Given the description of an element on the screen output the (x, y) to click on. 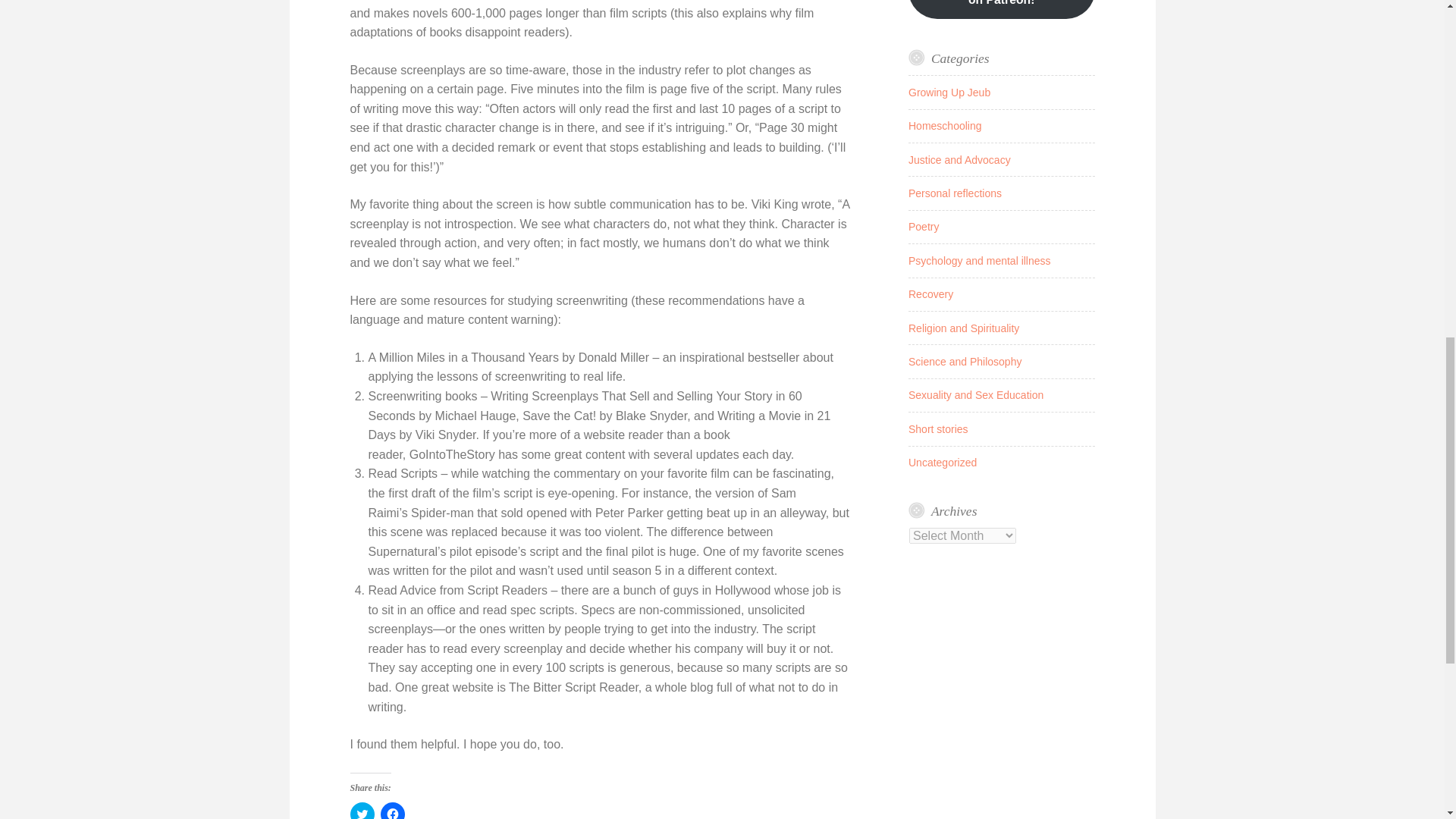
Psychology and mental illness (979, 260)
Sexuality and Sex Education (975, 395)
Recovery (930, 294)
Science and Philosophy (965, 361)
Uncategorized (942, 462)
Click to share on Twitter (362, 810)
Click to share on Facebook (392, 810)
Personal reflections (954, 193)
Growing Up Jeub (949, 92)
Religion and Spirituality (963, 328)
Click here to support me on Patreon! (1001, 9)
Justice and Advocacy (959, 159)
Short stories (938, 428)
Poetry (923, 226)
Homeschooling (944, 125)
